Given the description of an element on the screen output the (x, y) to click on. 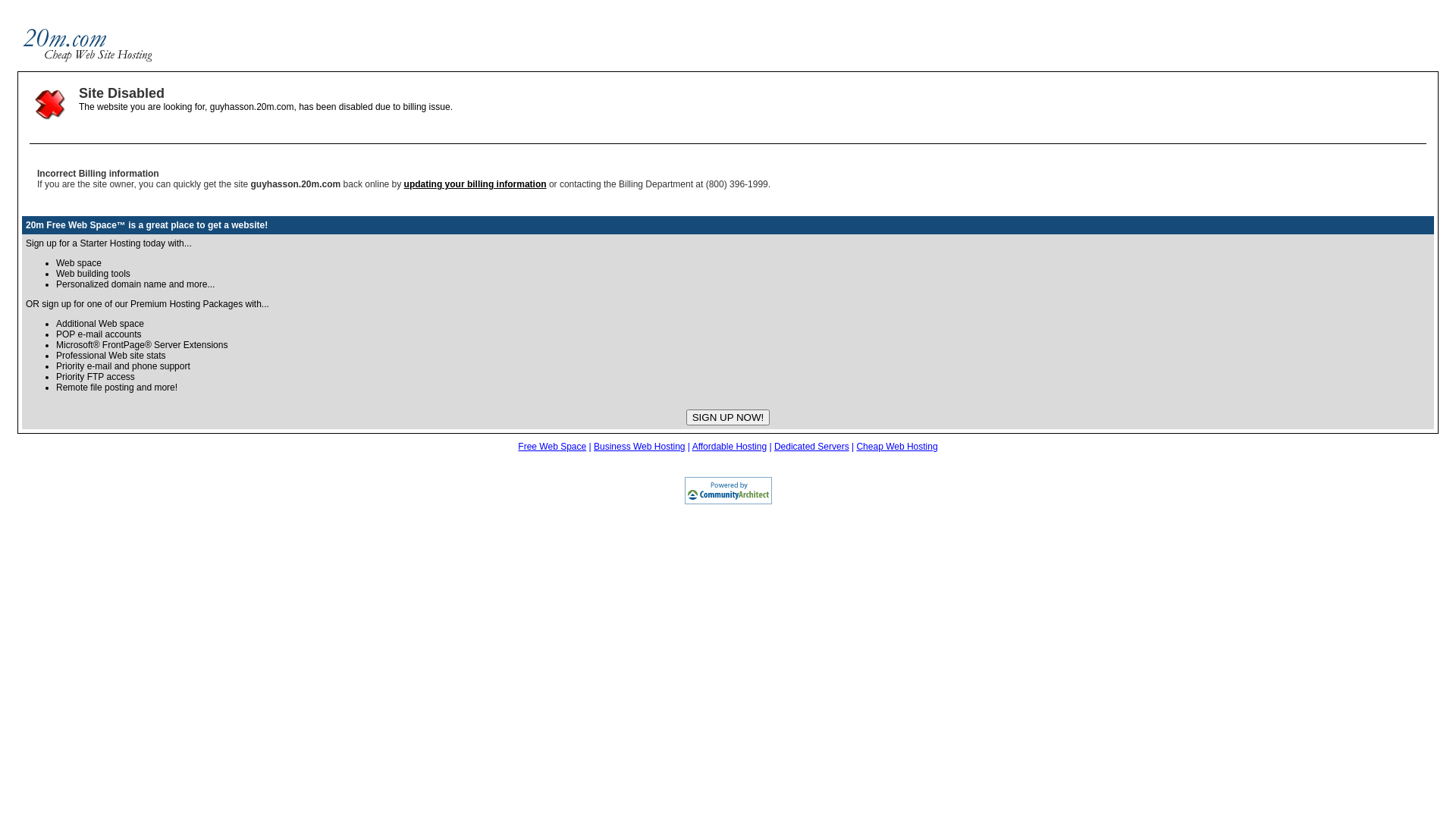
SIGN UP NOW! Element type: text (728, 417)
Cheap Web Hosting Element type: text (896, 446)
Business Web Hosting Element type: text (639, 446)
Free Web Space Element type: text (551, 446)
Affordable Hosting Element type: text (729, 446)
Dedicated Servers Element type: text (811, 446)
updating your billing information Element type: text (475, 183)
